Given the description of an element on the screen output the (x, y) to click on. 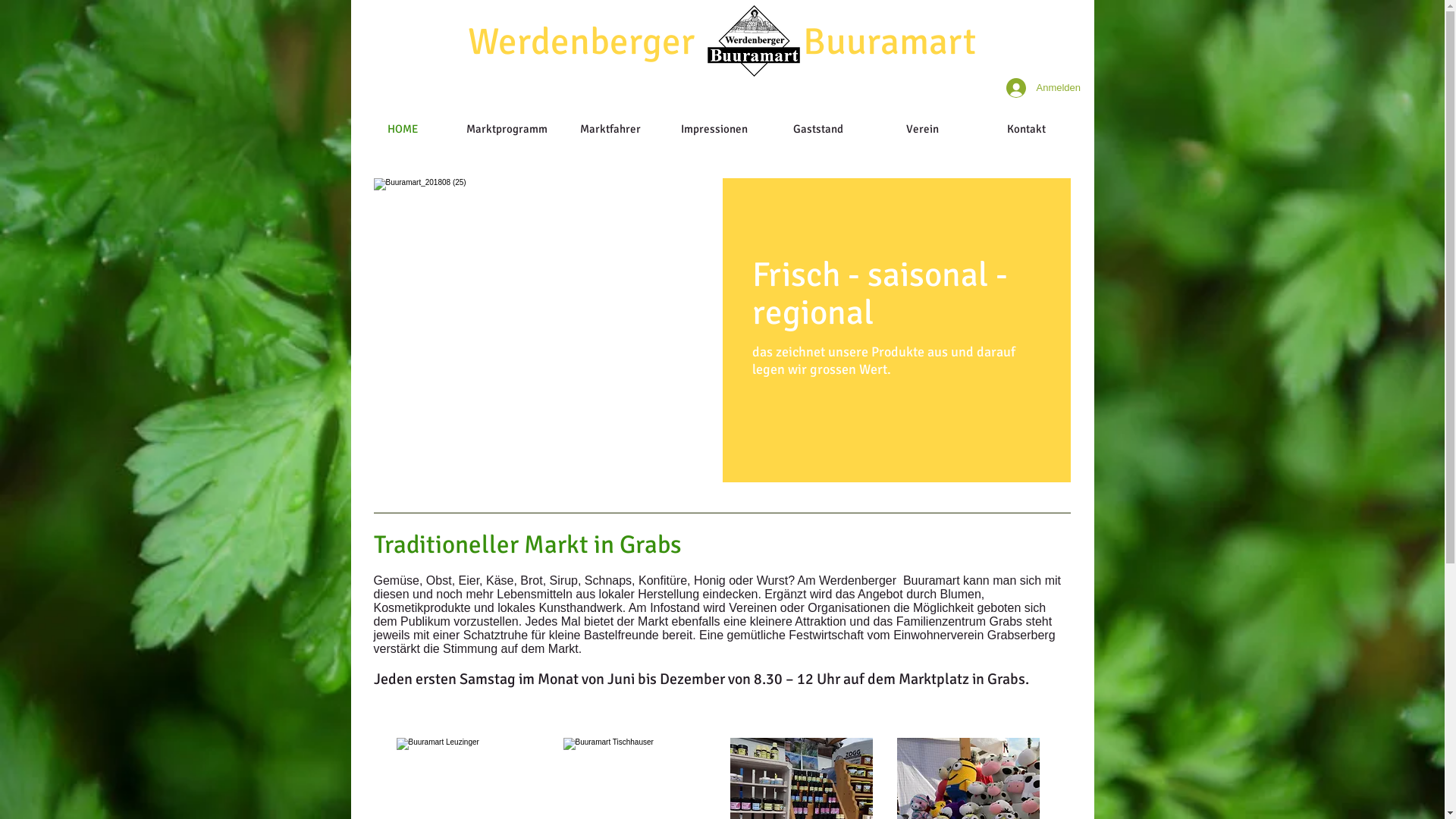
Impressionen Element type: text (714, 129)
Anmelden Element type: text (1039, 87)
Gaststand Element type: text (817, 129)
Marktprogramm Element type: text (506, 129)
Kontakt Element type: text (1025, 129)
HOME Element type: text (402, 129)
Verein Element type: text (922, 129)
Marktfahrer Element type: text (610, 129)
